Given the description of an element on the screen output the (x, y) to click on. 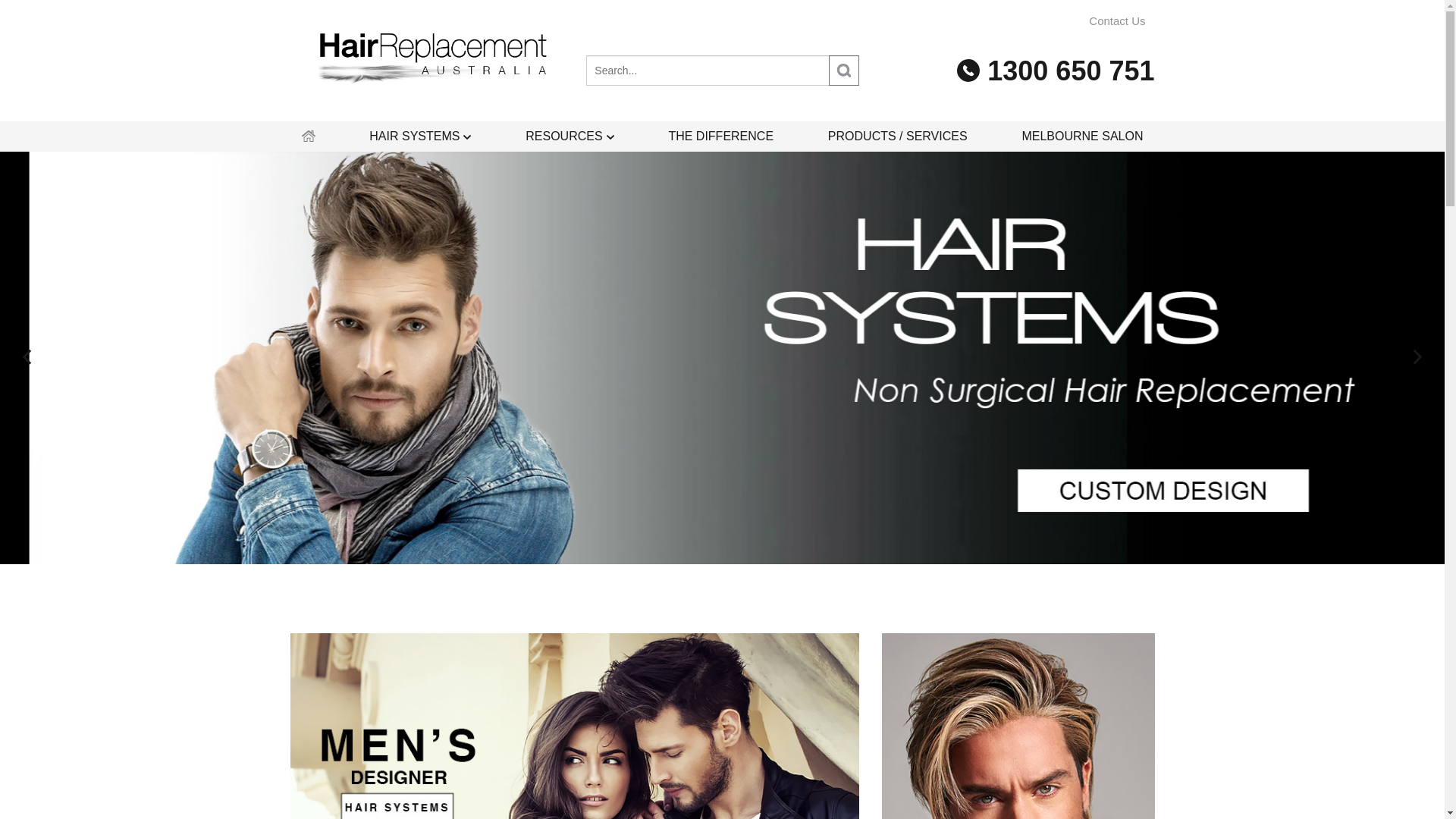
HAIR SYSTEMS Element type: text (419, 136)
THE DIFFERENCE Element type: text (720, 136)
Contact Us Element type: text (1116, 20)
MELBOURNE SALON Element type: text (1082, 136)
www.hairsystemsaustralia.com.au Element type: hover (430, 62)
1300 650 751 Element type: text (1055, 69)
RESOURCES Element type: text (569, 136)
PRODUCTS / SERVICES Element type: text (897, 136)
